Given the description of an element on the screen output the (x, y) to click on. 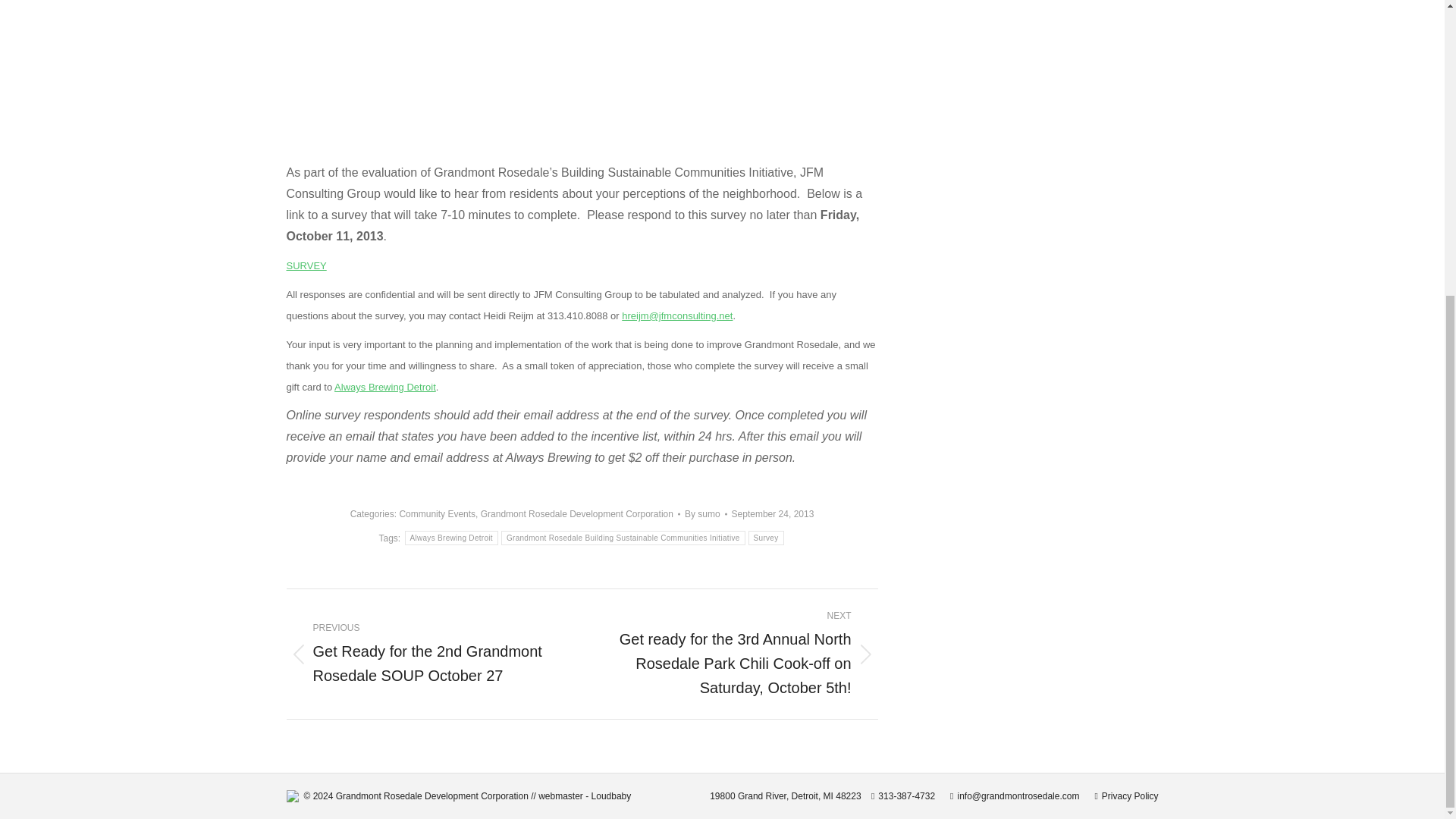
5:28 pm (772, 513)
